Given the description of an element on the screen output the (x, y) to click on. 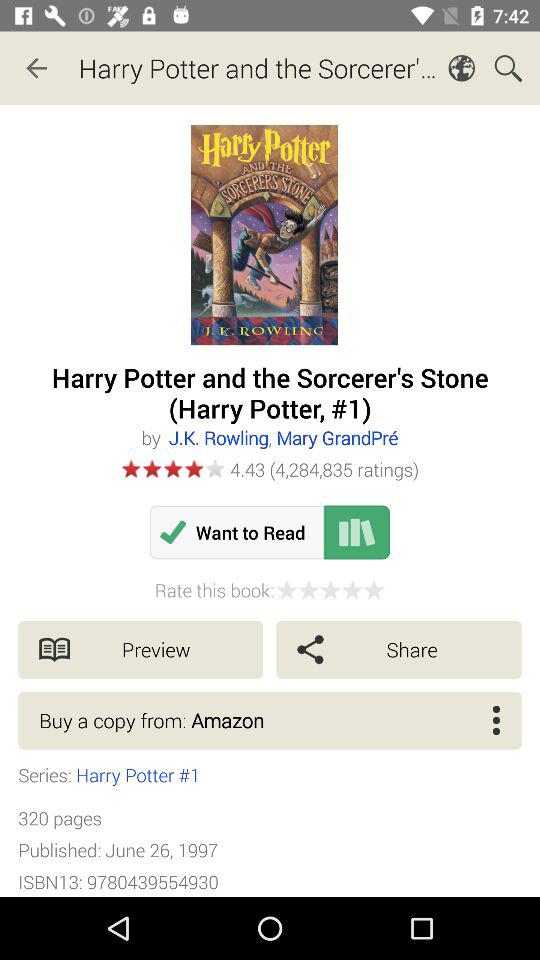
show all books that i want to read (357, 532)
